Given the description of an element on the screen output the (x, y) to click on. 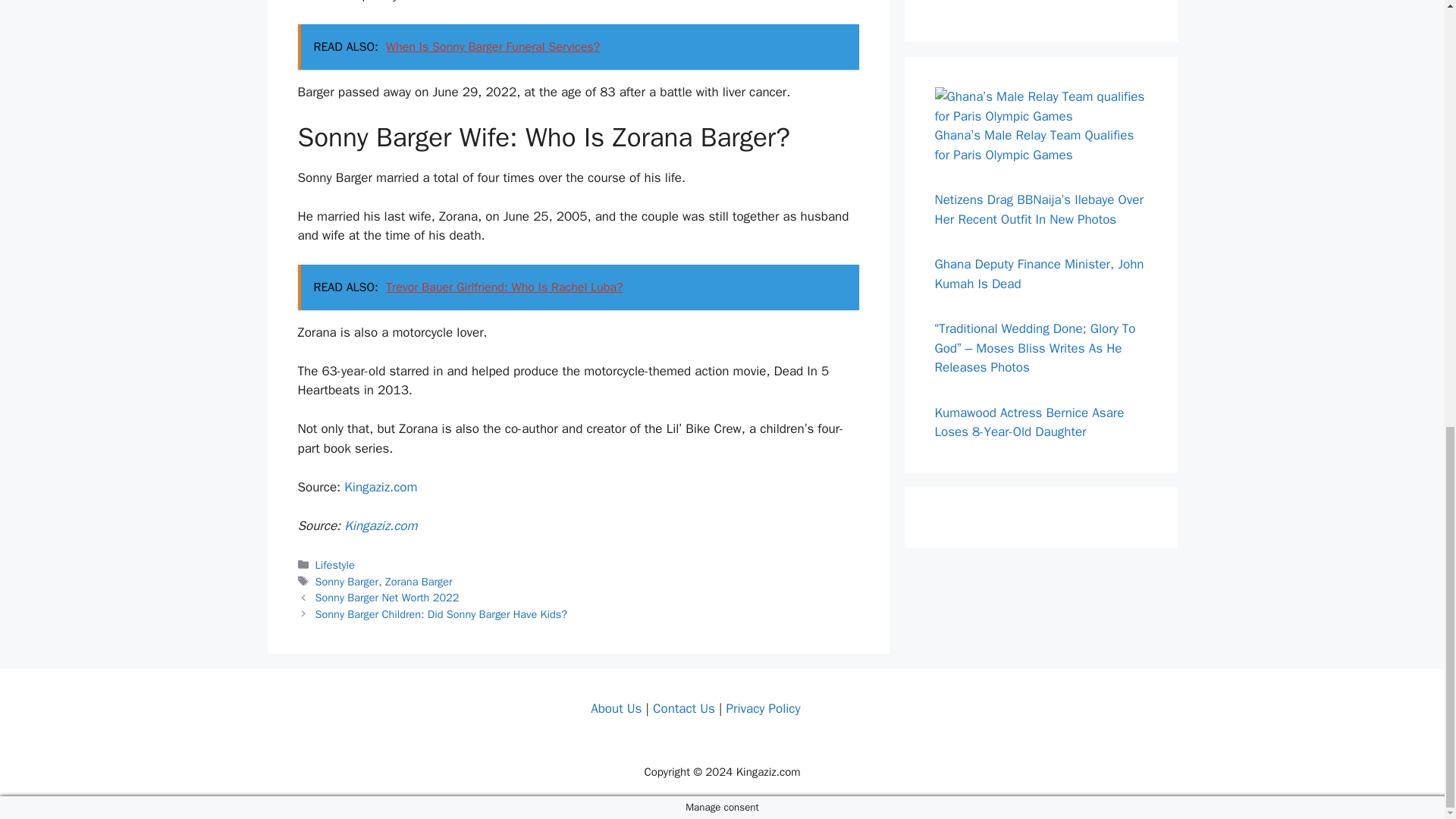
Zorana Barger (418, 581)
Contact Us (683, 708)
Kingaziz.com (379, 487)
READ ALSO:  Trevor Bauer Girlfriend: Who Is Rachel Luba? (578, 287)
About Us (616, 708)
Ghana Deputy Finance Minister, John Kumah Is Dead (1038, 273)
Sonny Barger Children: Did Sonny Barger Have Kids? (441, 613)
Privacy Policy (762, 708)
Sonny Barger Net Worth 2022 (387, 597)
Sonny Barger (346, 581)
Kumawood Actress Bernice Asare Loses 8-Year-Old Daughter (1029, 422)
Kingaziz.com (379, 525)
READ ALSO:  When Is Sonny Barger Funeral Services? (578, 46)
Lifestyle (335, 564)
